Given the description of an element on the screen output the (x, y) to click on. 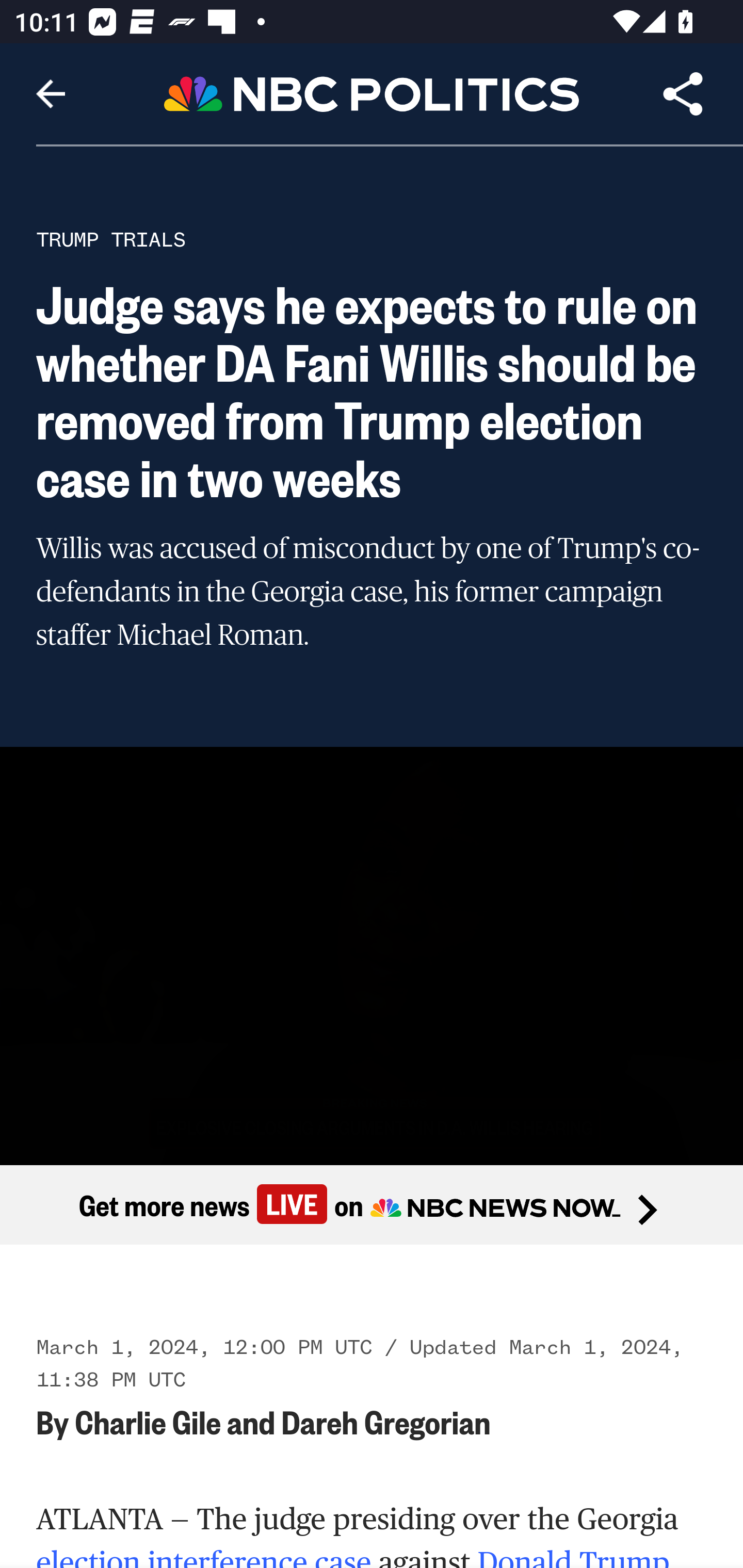
Navigate up (50, 93)
Share Article, button (683, 94)
Header, NBC Politics (371, 93)
TRUMP TRIALS (110, 239)
Get more news Live on Get more news Live on (371, 1203)
